Given the description of an element on the screen output the (x, y) to click on. 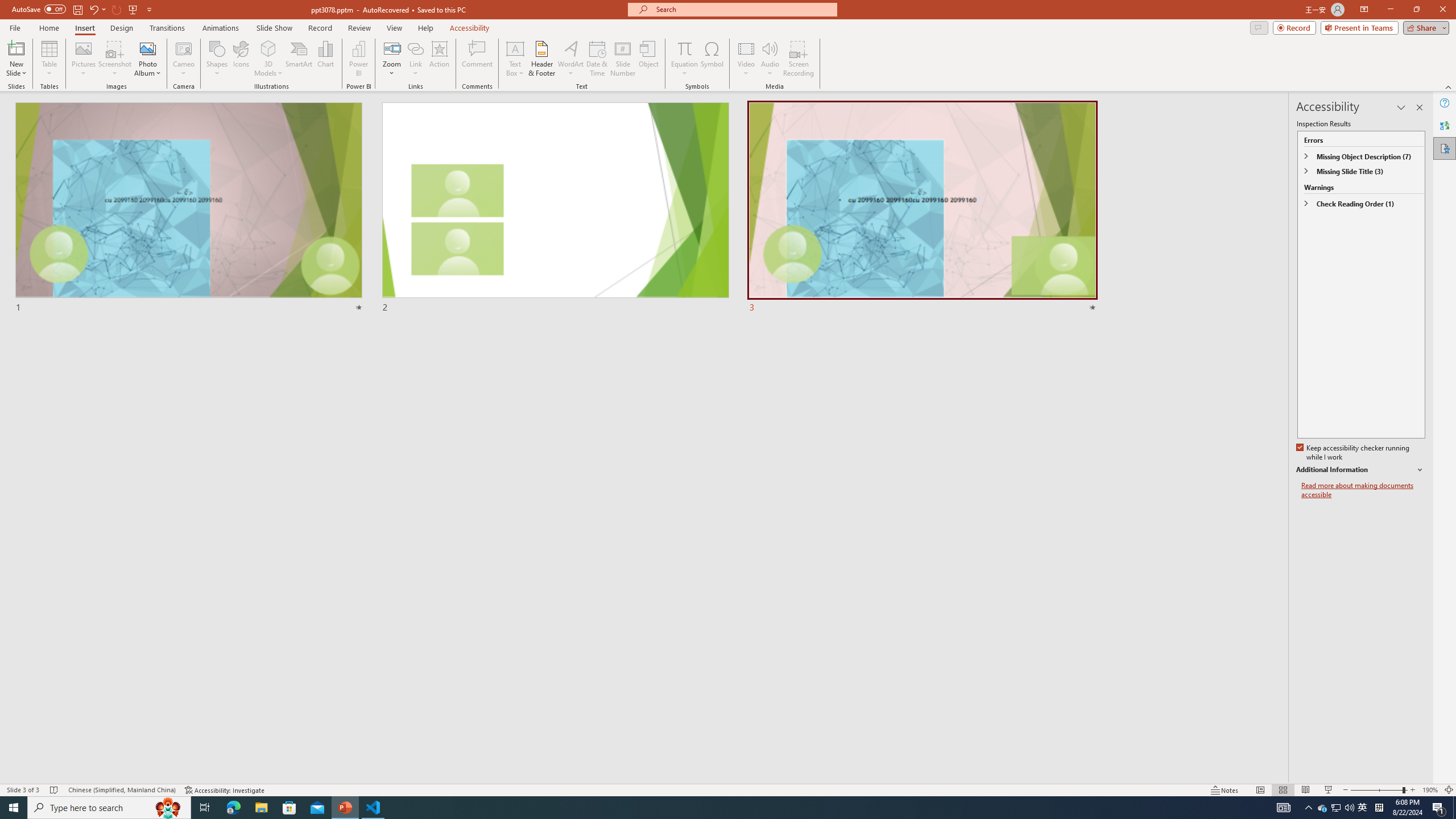
Screenshot (114, 58)
WordArt (570, 58)
Audio (769, 58)
Comment (476, 58)
Header & Footer... (541, 58)
Pictures (83, 58)
3D Models (268, 48)
